Given the description of an element on the screen output the (x, y) to click on. 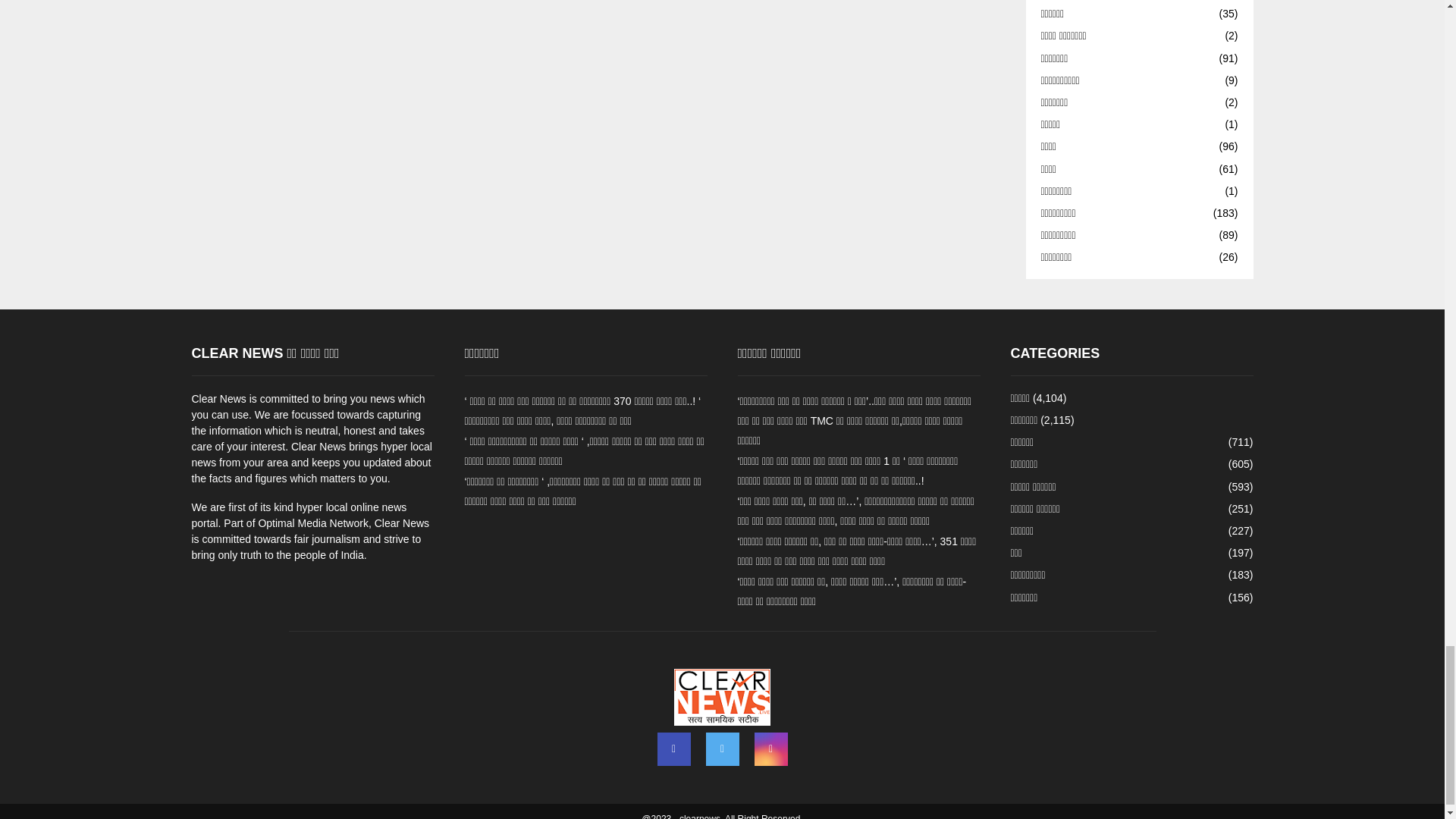
Instagram (770, 748)
Twitter (721, 748)
Facebook (673, 748)
